Given the description of an element on the screen output the (x, y) to click on. 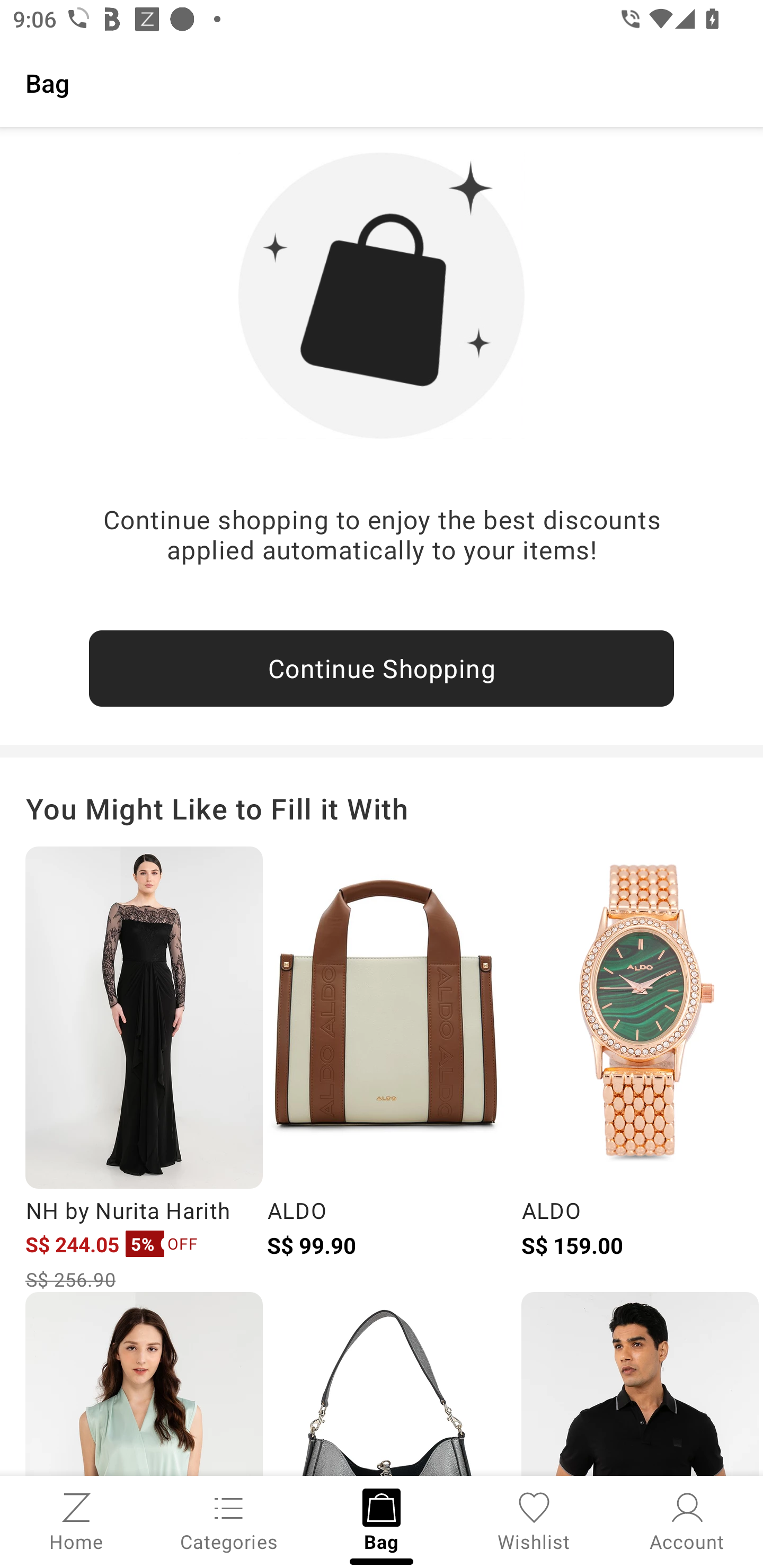
Bag (381, 82)
Continue Shopping (381, 668)
NH by Nurita Harith S$ 244.05 5% OFF S$ 256.90 (143, 1069)
ALDO S$ 99.90 (385, 1069)
ALDO S$ 159.00 (639, 1069)
Home (76, 1519)
Categories (228, 1519)
Wishlist (533, 1519)
Account (686, 1519)
